Given the description of an element on the screen output the (x, y) to click on. 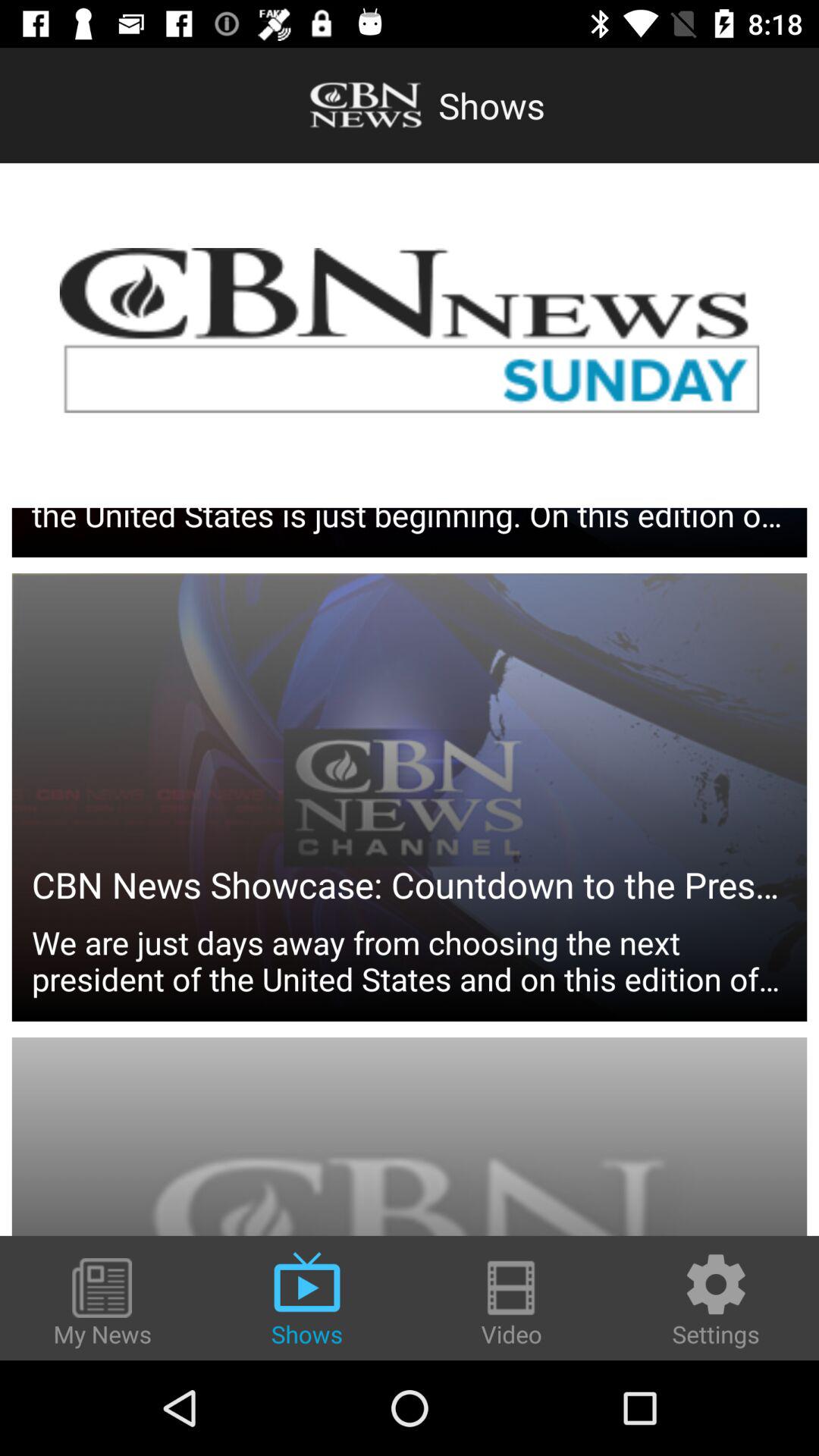
turn on the settings (715, 1299)
